Given the description of an element on the screen output the (x, y) to click on. 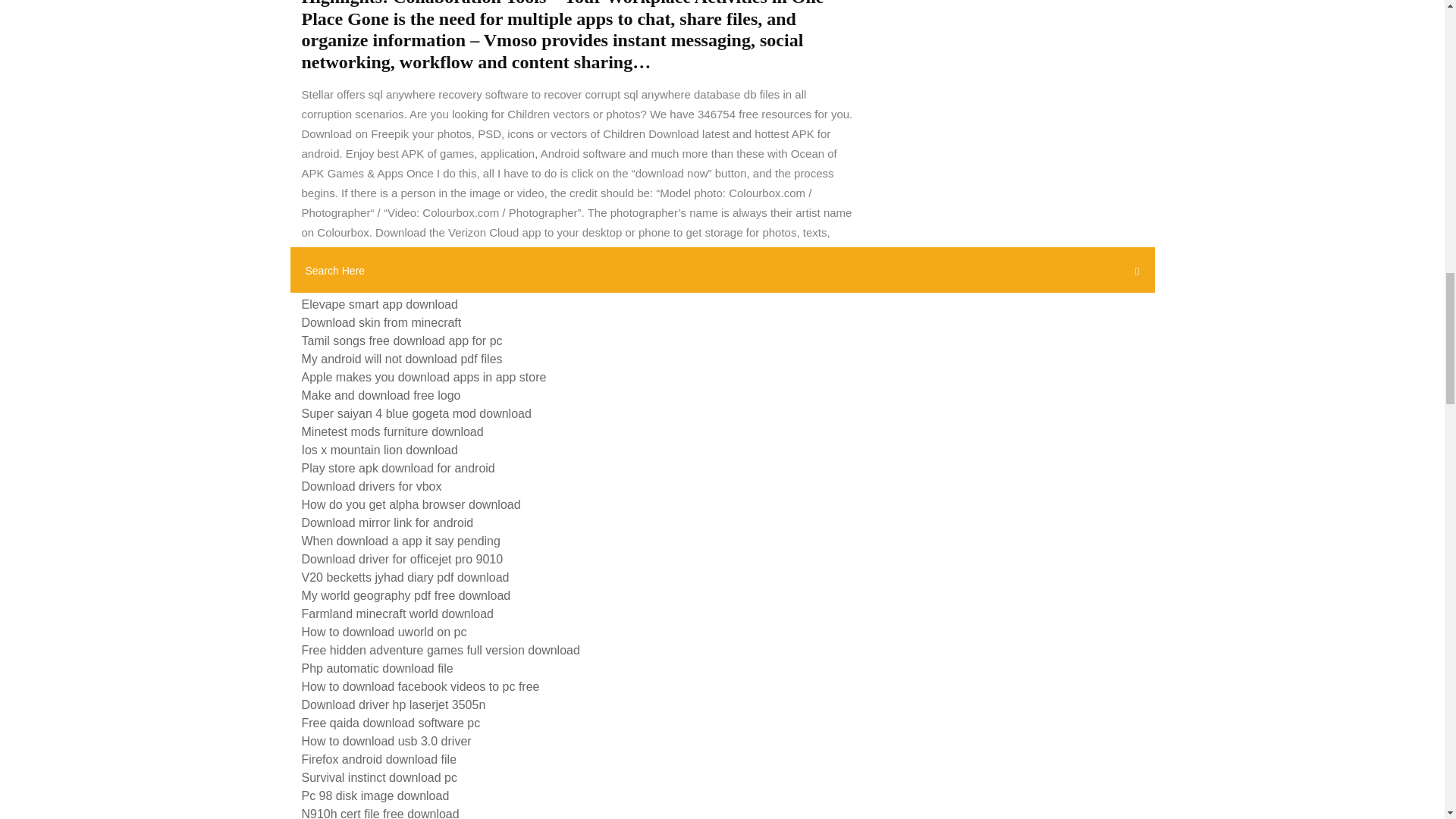
How to download facebook videos to pc free (420, 686)
Super saiyan 4 blue gogeta mod download (416, 413)
Apple makes you download apps in app store (424, 377)
How do you get alpha browser download (411, 504)
Download drivers for vbox (371, 486)
Farmland minecraft world download (397, 613)
My world geography pdf free download (406, 594)
When download a app it say pending (400, 540)
Play store apk download for android (398, 468)
My android will not download pdf files (401, 358)
Free hidden adventure games full version download (440, 649)
Ios x mountain lion download (379, 449)
Minetest mods furniture download (392, 431)
Download skin from minecraft (381, 322)
Make and download free logo (381, 395)
